Given the description of an element on the screen output the (x, y) to click on. 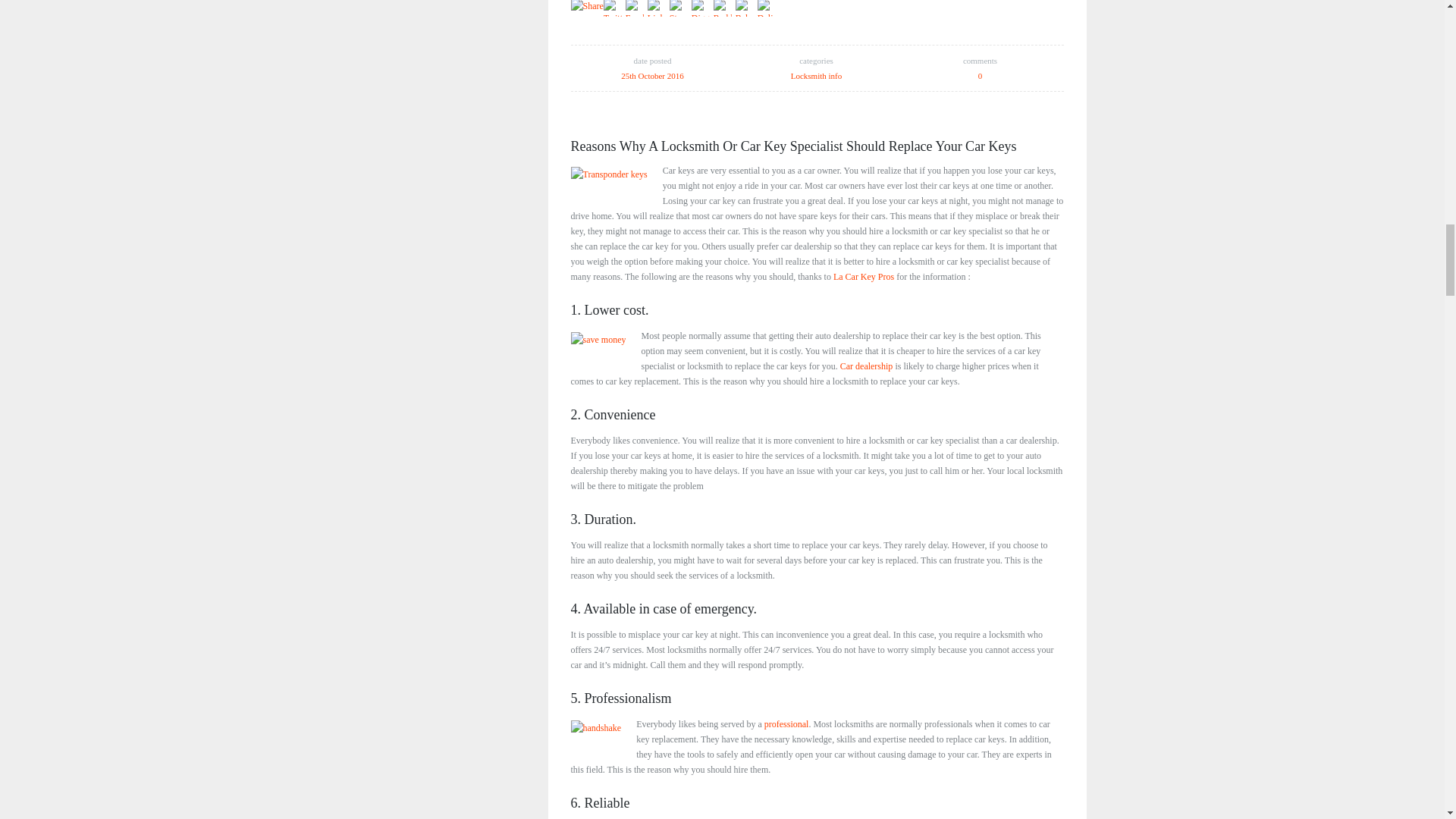
Facebook (636, 8)
Linkedin (658, 8)
25th October 2016 (651, 75)
Delicious (767, 8)
StumbleUpon (680, 8)
Twitter (615, 8)
Bebo (746, 8)
Reddit (724, 8)
Digg (702, 8)
Locksmith info (816, 75)
